Given the description of an element on the screen output the (x, y) to click on. 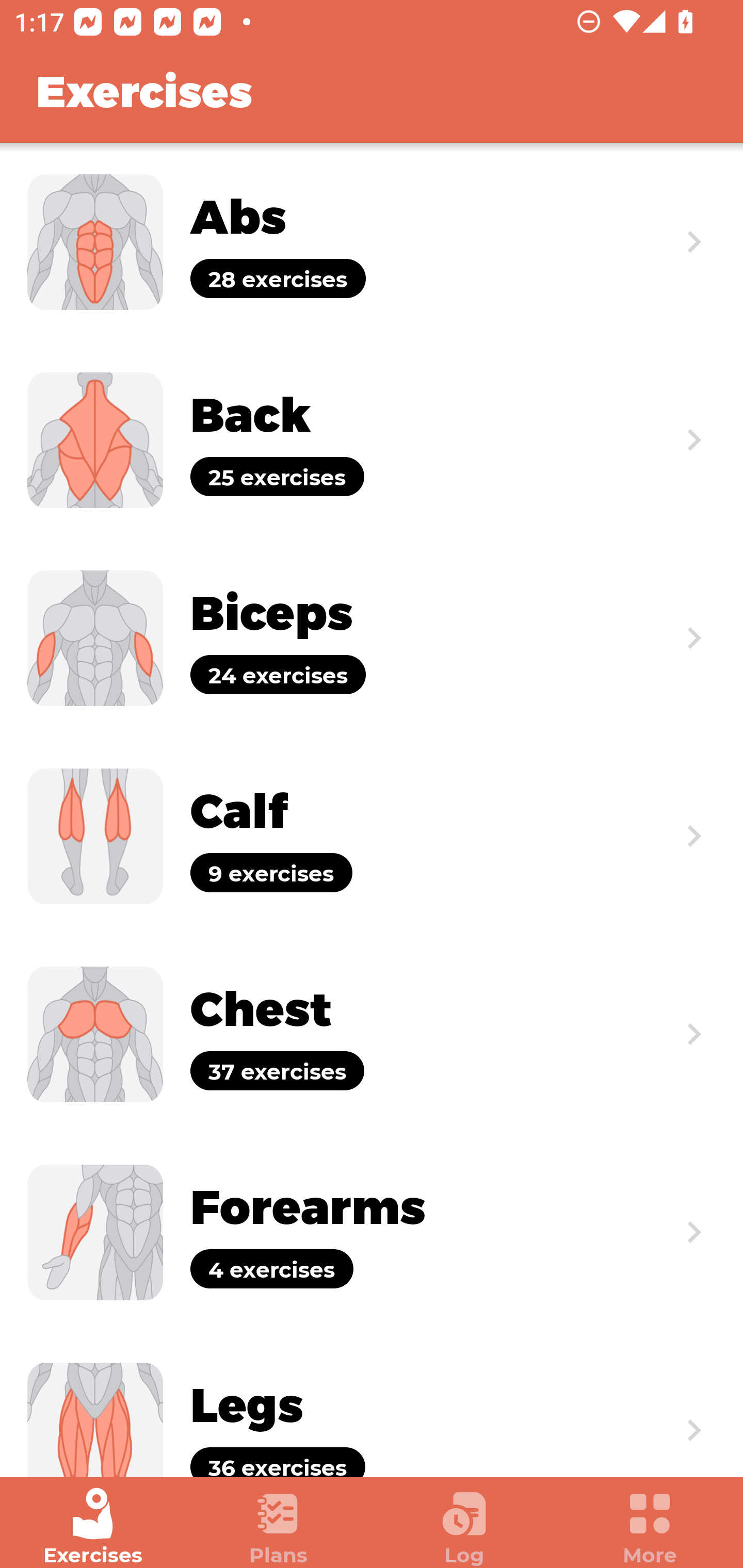
Exercise Abs 28 exercises (371, 241)
Exercise Back 25 exercises (371, 439)
Exercise Biceps 24 exercises (371, 637)
Exercise Calf 9 exercises (371, 836)
Exercise Chest 37 exercises (371, 1033)
Exercise Forearms 4 exercises (371, 1232)
Exercise Legs 36 exercises (371, 1404)
Exercises (92, 1527)
Plans (278, 1527)
Log (464, 1527)
More (650, 1527)
